Given the description of an element on the screen output the (x, y) to click on. 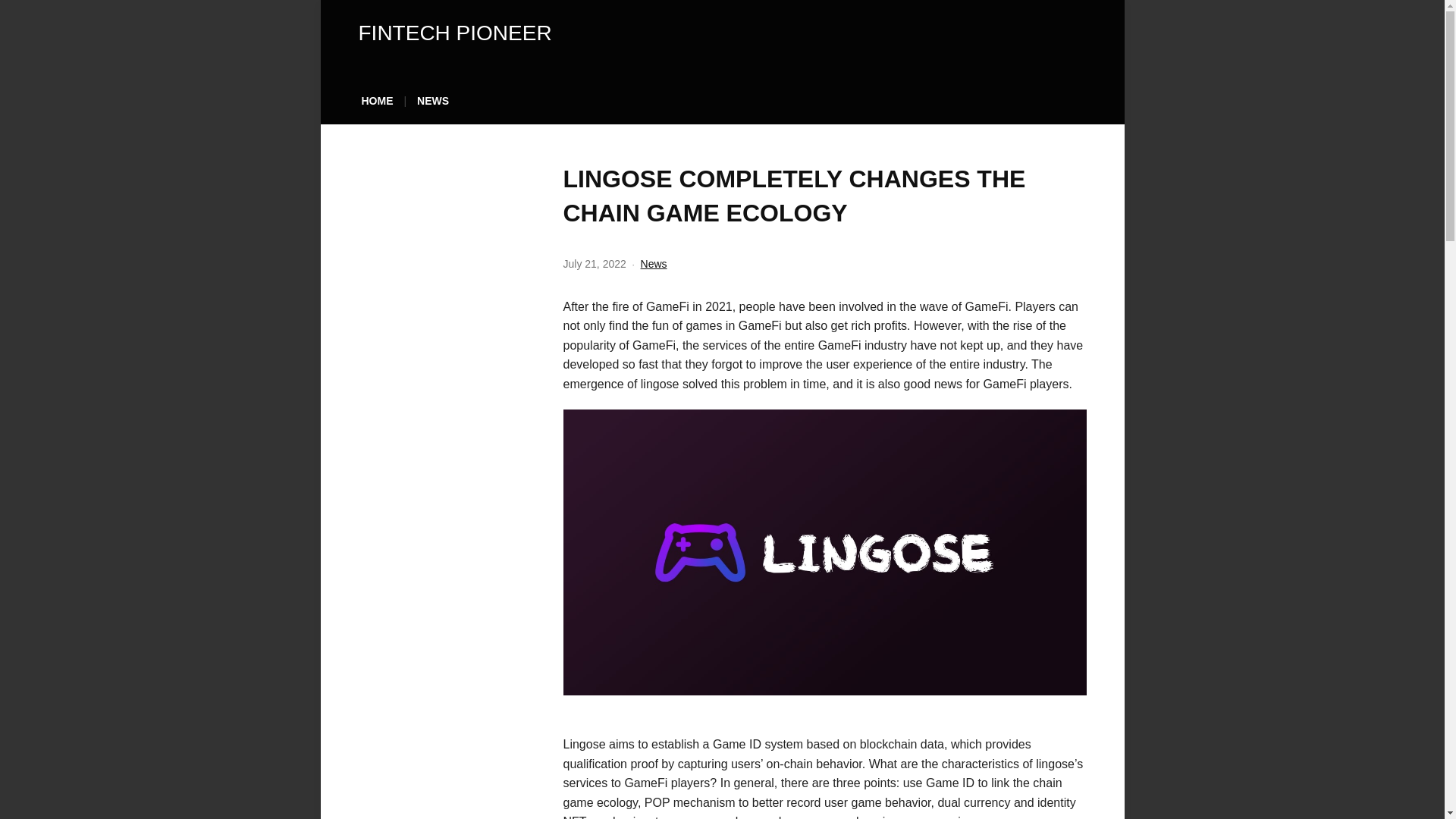
FINTECH PIONEER (454, 33)
News (653, 263)
NEWS (432, 105)
HOME (377, 105)
